Given the description of an element on the screen output the (x, y) to click on. 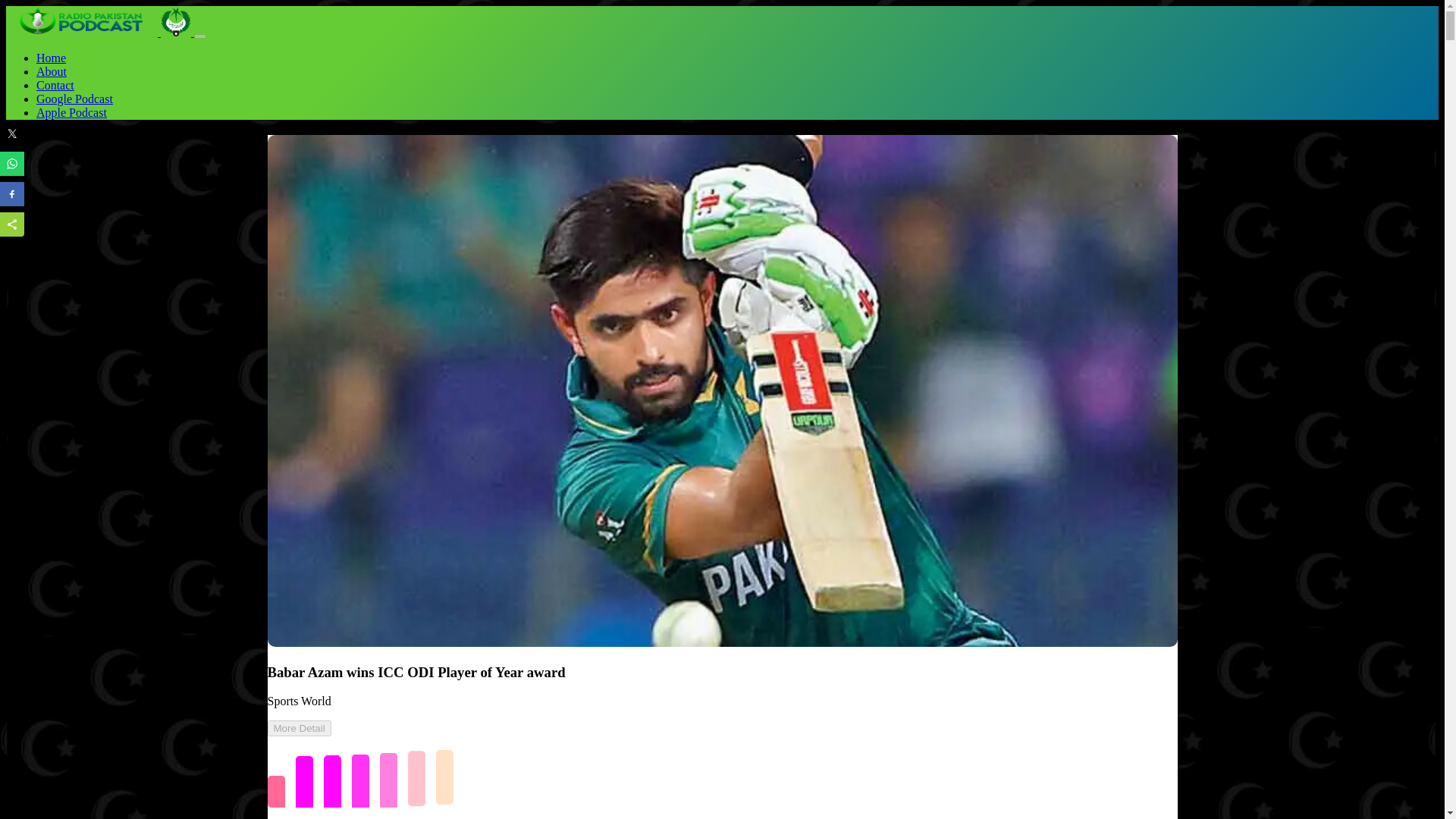
Home (50, 57)
Contact (55, 84)
Google Podcast (74, 98)
About (51, 71)
More Detail (298, 728)
Apple Podcast (71, 112)
